Given the description of an element on the screen output the (x, y) to click on. 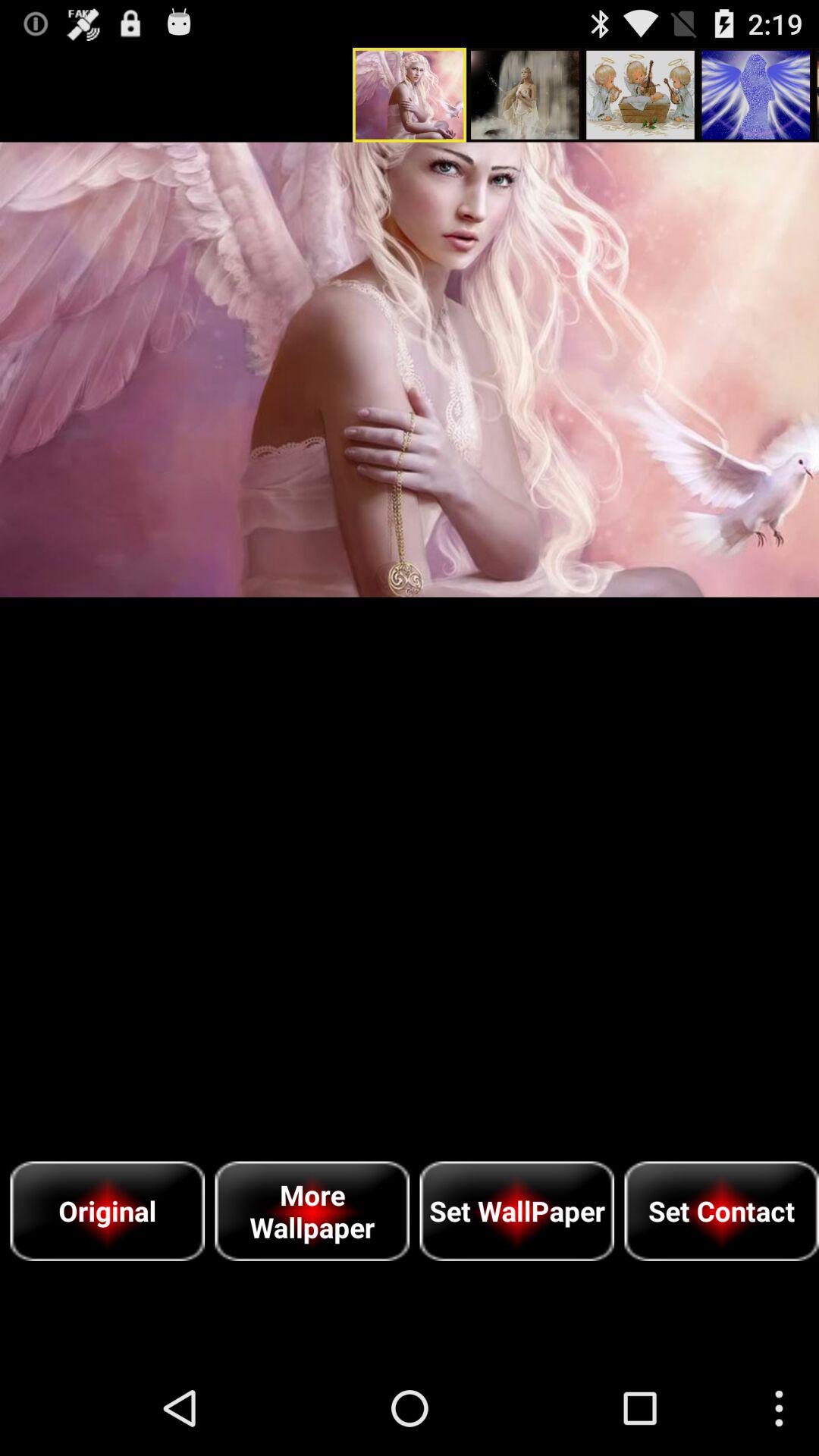
open the icon next to more wallpaper item (107, 1210)
